Given the description of an element on the screen output the (x, y) to click on. 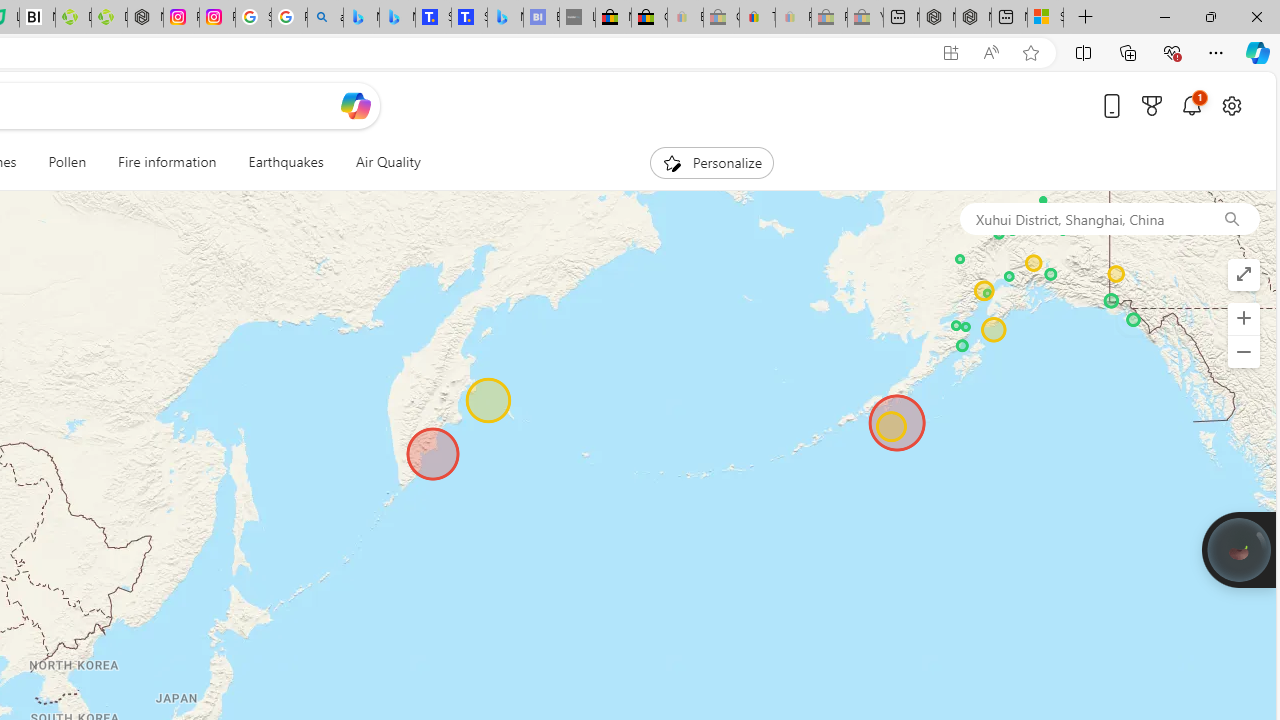
Descarga Driver Updater (109, 17)
Nvidia va a poner a prueba la paciencia de los inversores (37, 17)
Personalize (711, 162)
Join us in planting real trees to help our planet! (1239, 549)
Nordace - Summer Adventures 2024 (973, 17)
Safety in Our Products - Google Safety Center (253, 17)
Air Quality (380, 162)
App available. Install Microsoft Start Weather (950, 53)
Microsoft rewards (1151, 105)
Open settings (1231, 105)
